Given the description of an element on the screen output the (x, y) to click on. 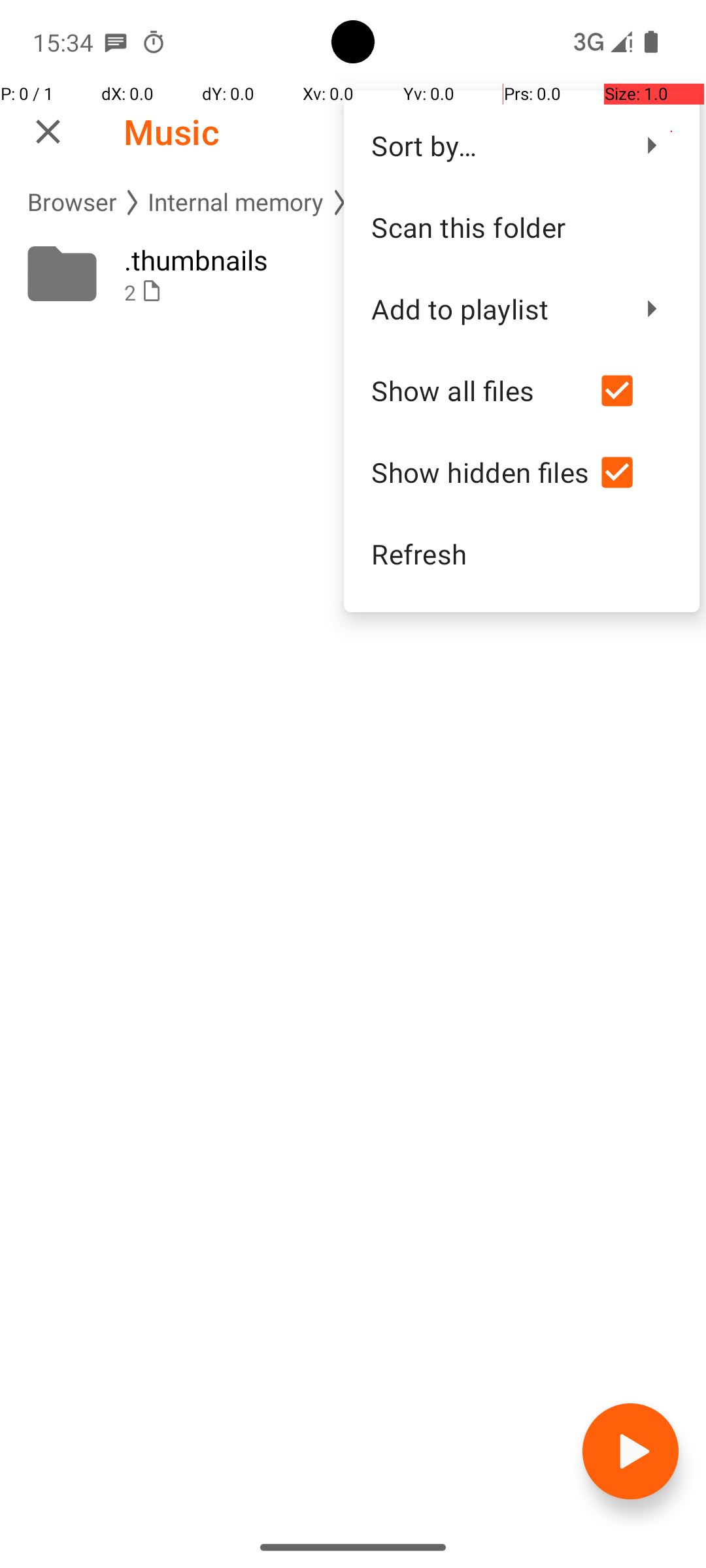
Scan this folder Element type: android.widget.TextView (521, 226)
Add to playlist Element type: android.widget.TextView (494, 308)
Show all files Element type: android.widget.TextView (480, 389)
